Given the description of an element on the screen output the (x, y) to click on. 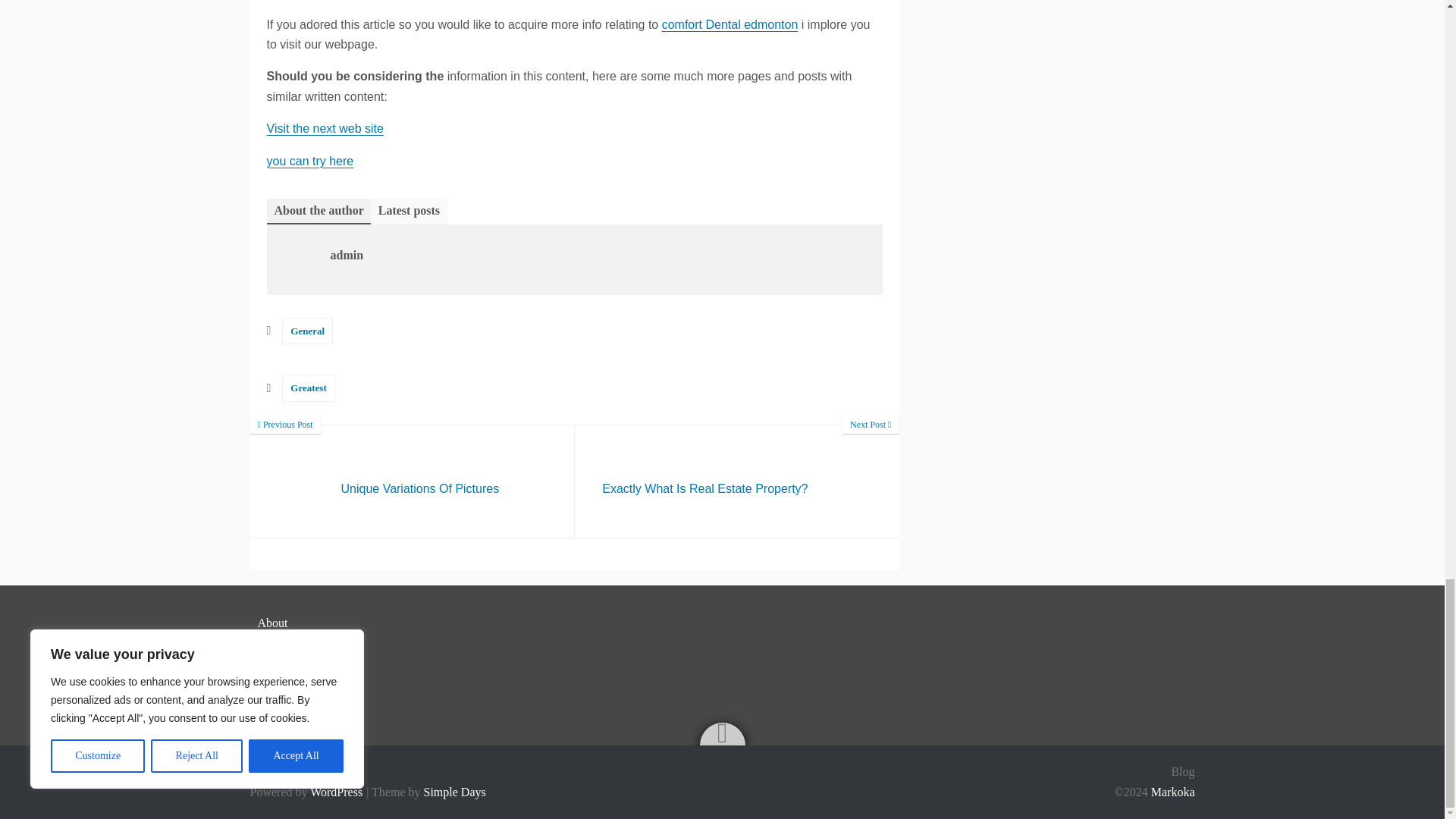
comfort Dental edmonton (729, 24)
Exactly What Is Real Estate Property? (737, 481)
Unique Variations Of Pictures (412, 481)
Greatest (412, 481)
you can try here (308, 387)
Visit the next web site (309, 160)
General (325, 128)
